Given the description of an element on the screen output the (x, y) to click on. 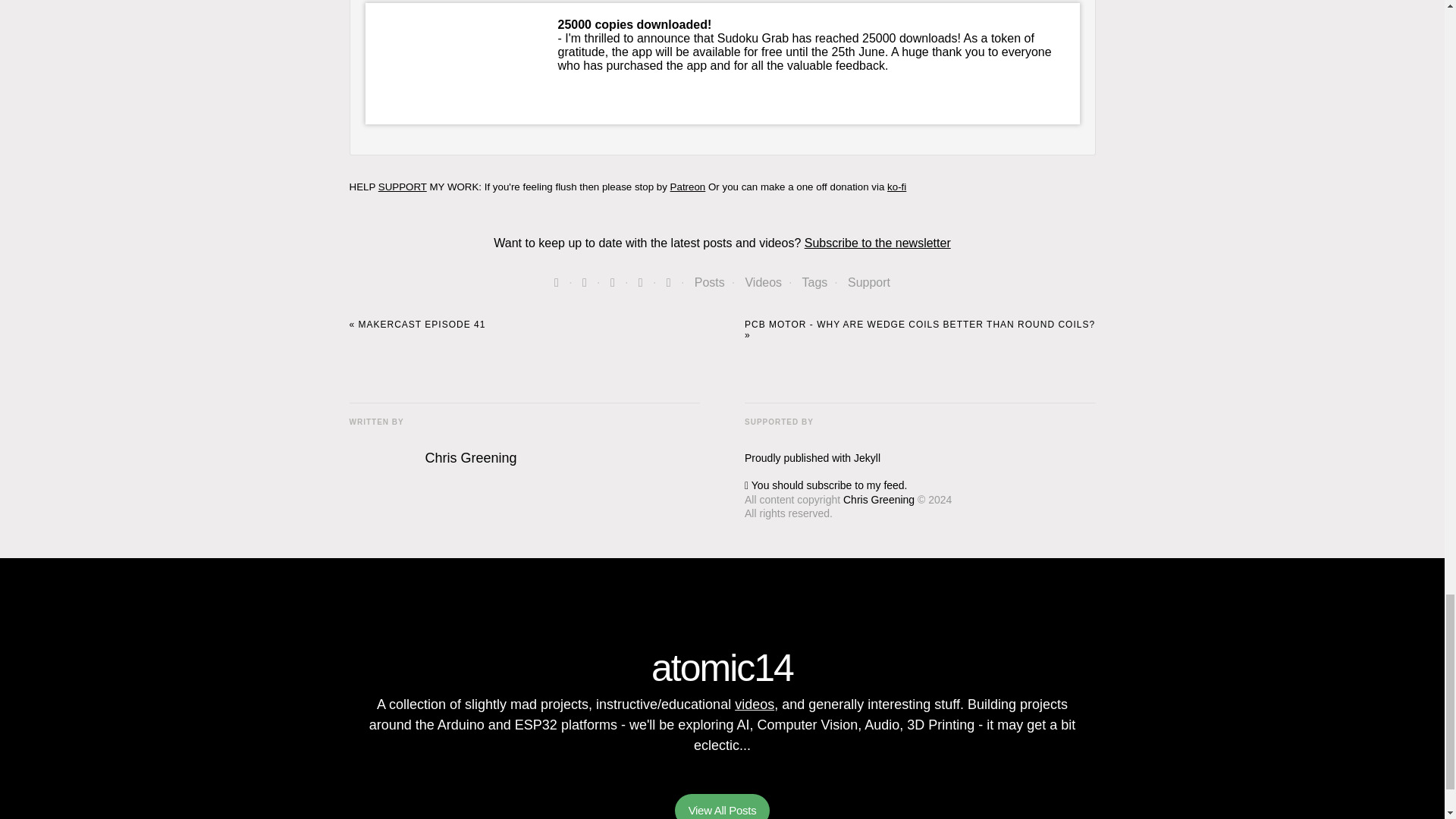
Patreon (687, 186)
Tags (815, 282)
SUPPORT (402, 186)
ko-fi (895, 186)
Subscribe to the newsletter (877, 242)
Posts (709, 282)
Videos (762, 282)
